Given the description of an element on the screen output the (x, y) to click on. 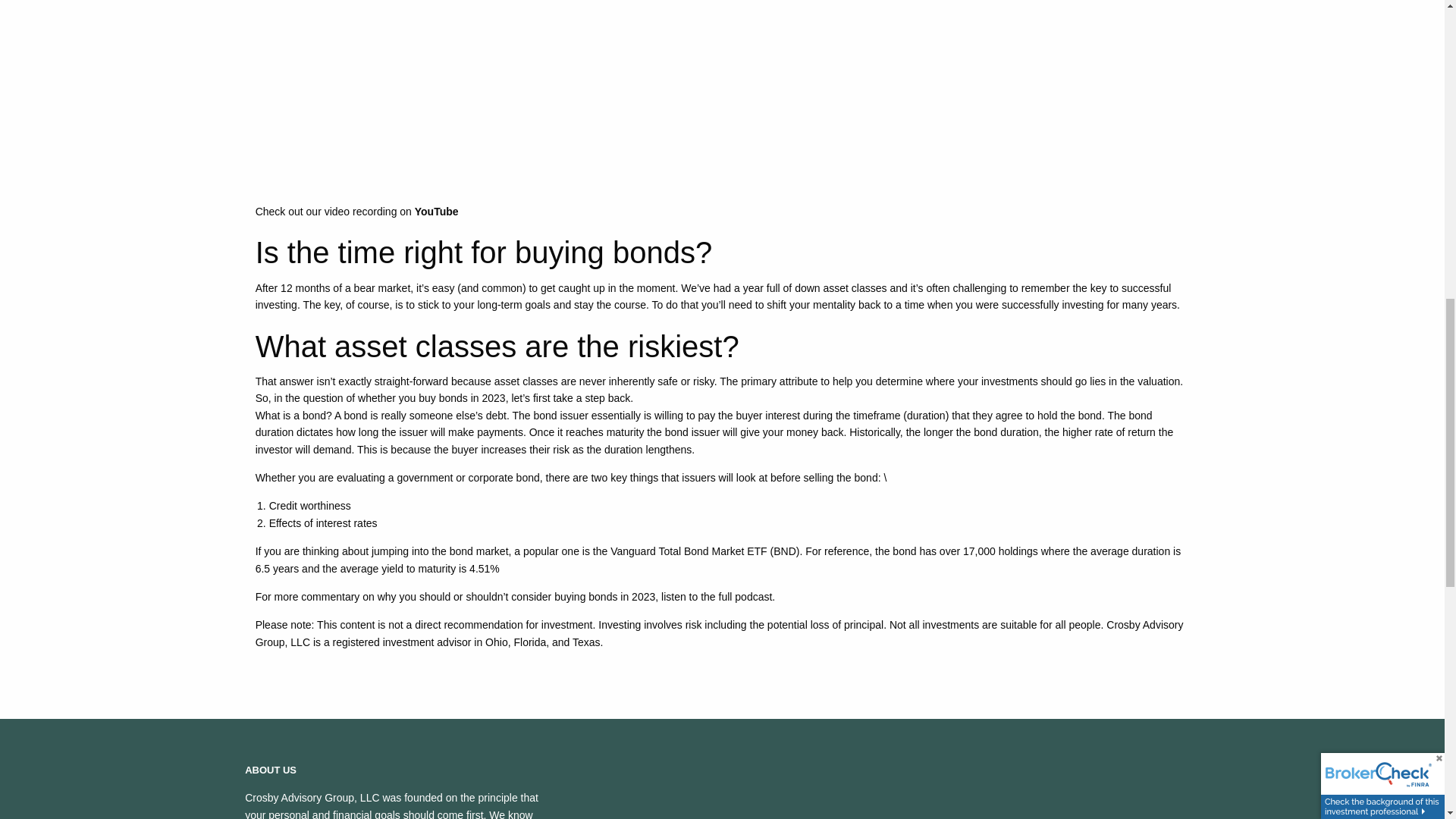
YouTube (436, 211)
